Given the description of an element on the screen output the (x, y) to click on. 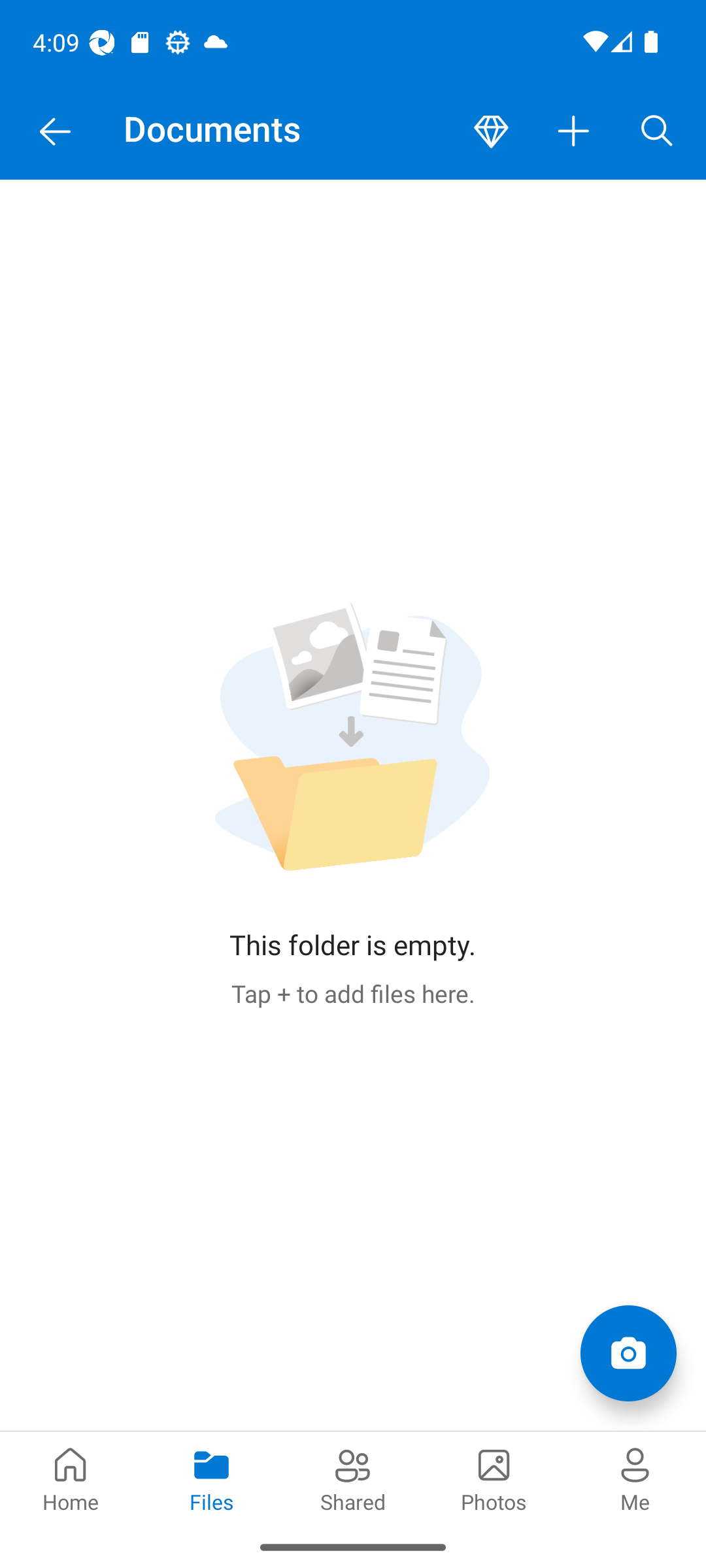
Navigate Up (55, 131)
Premium button (491, 131)
More actions button (574, 131)
Search button (656, 131)
Add items Scan (628, 1352)
Home pivot Home (70, 1478)
Shared pivot Shared (352, 1478)
Photos pivot Photos (493, 1478)
Me pivot Me (635, 1478)
